Given the description of an element on the screen output the (x, y) to click on. 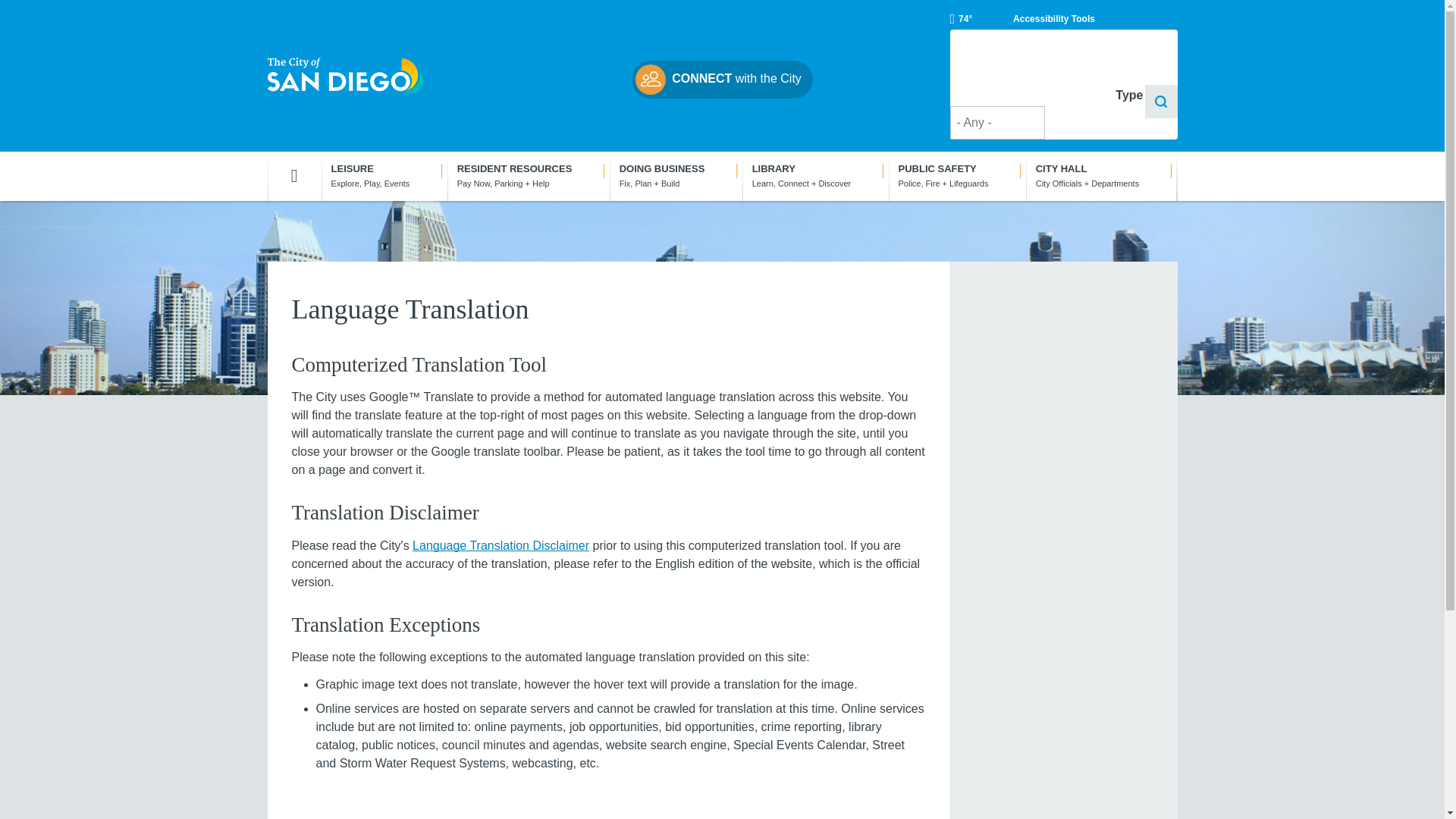
Explore, Play, Events (383, 175)
Search (1160, 101)
RESIDENT RESOURCES (528, 175)
Accessibility Tools (1053, 18)
Search (1160, 101)
CONNECT with the City (721, 79)
Mostly Cloudy (960, 18)
LEISURE (383, 175)
